Given the description of an element on the screen output the (x, y) to click on. 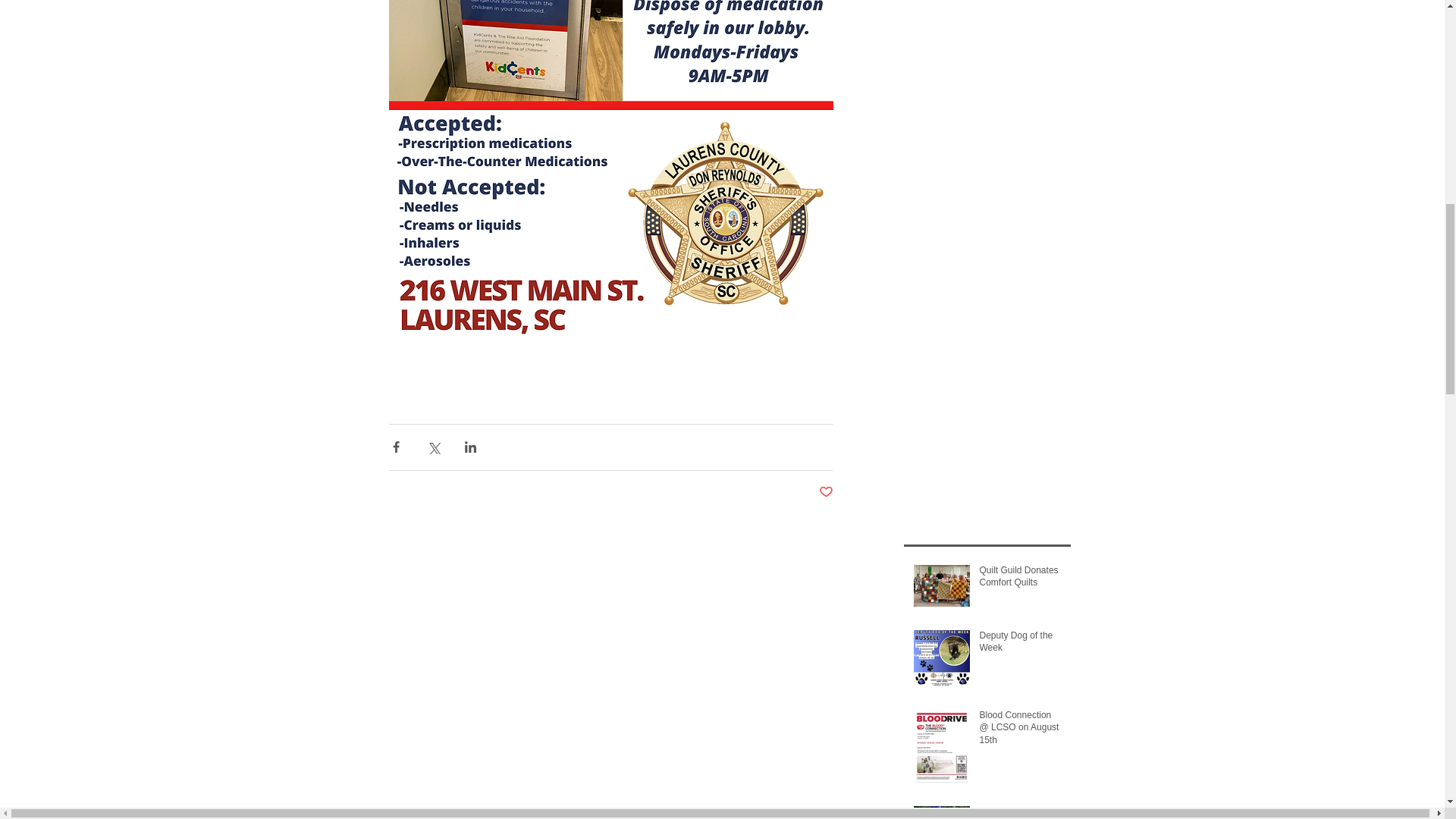
Quilt Guild Donates Comfort Quilts (1020, 580)
Deputy Dog of the Week (1020, 644)
Post not marked as liked (825, 492)
